Given the description of an element on the screen output the (x, y) to click on. 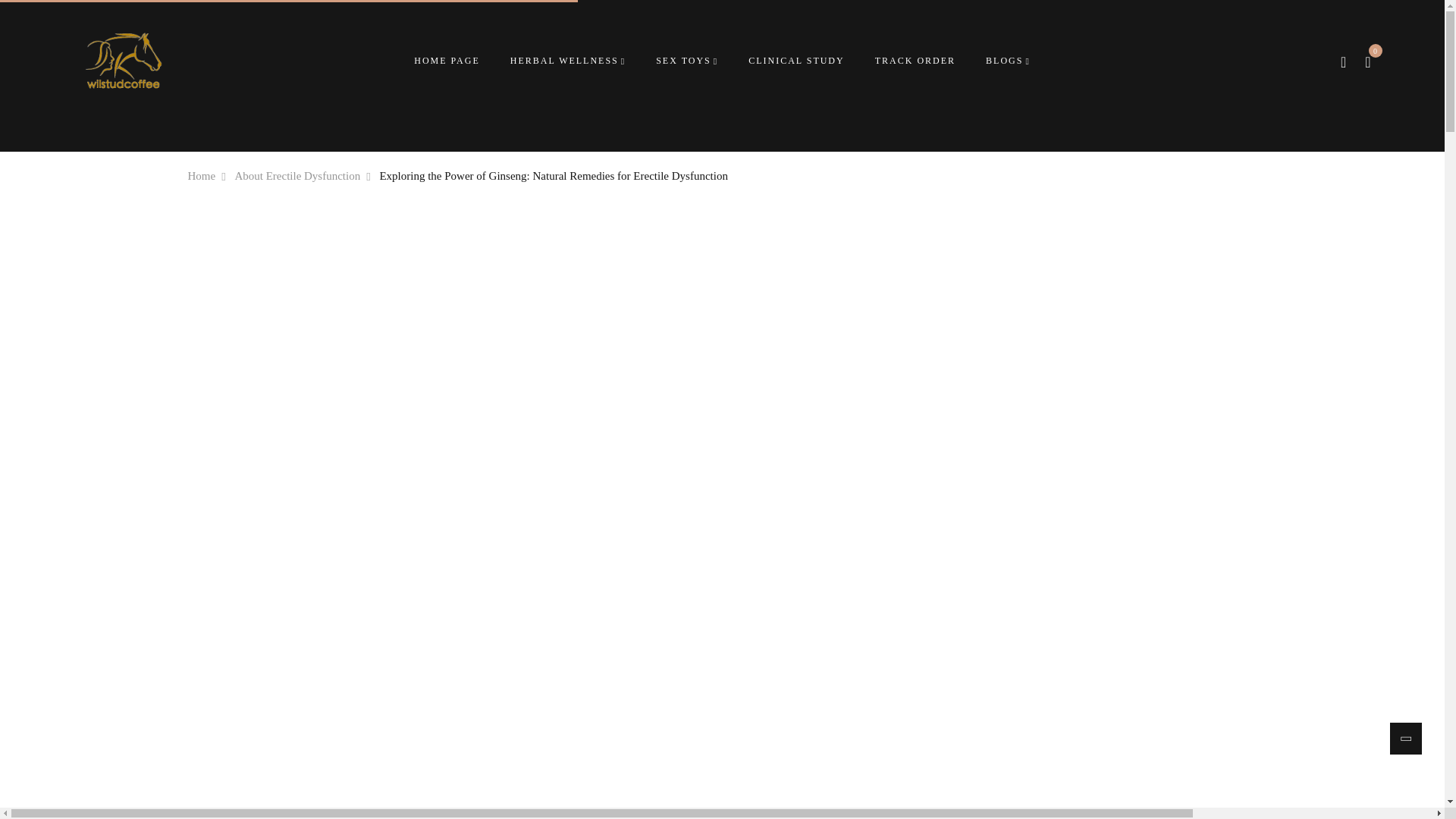
TRACK ORDER (915, 60)
HERBAL WELLNESS (568, 60)
HOME PAGE (446, 60)
BLOGS (1007, 60)
Home (201, 175)
CLINICAL STUDY (796, 60)
SEX TOYS (686, 60)
